Given the description of an element on the screen output the (x, y) to click on. 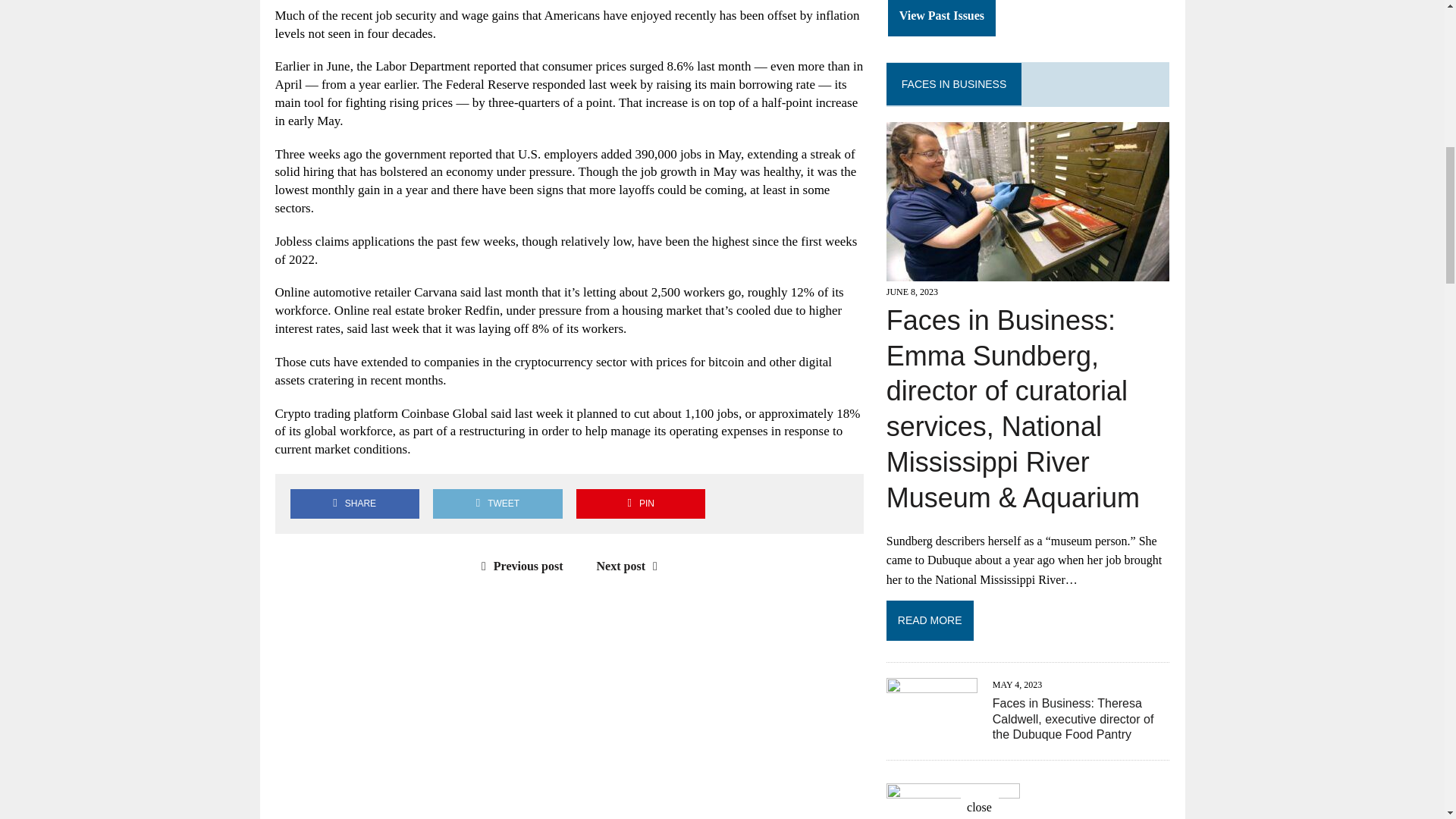
Tweet This Post (497, 503)
TWEET (497, 503)
Pin This Post (640, 503)
Previous post (518, 565)
View Past Issues (941, 18)
FACES IN BUSINESS (953, 83)
Share on Facebook (354, 503)
Next post (630, 565)
SHARE (354, 503)
PIN (640, 503)
